Given the description of an element on the screen output the (x, y) to click on. 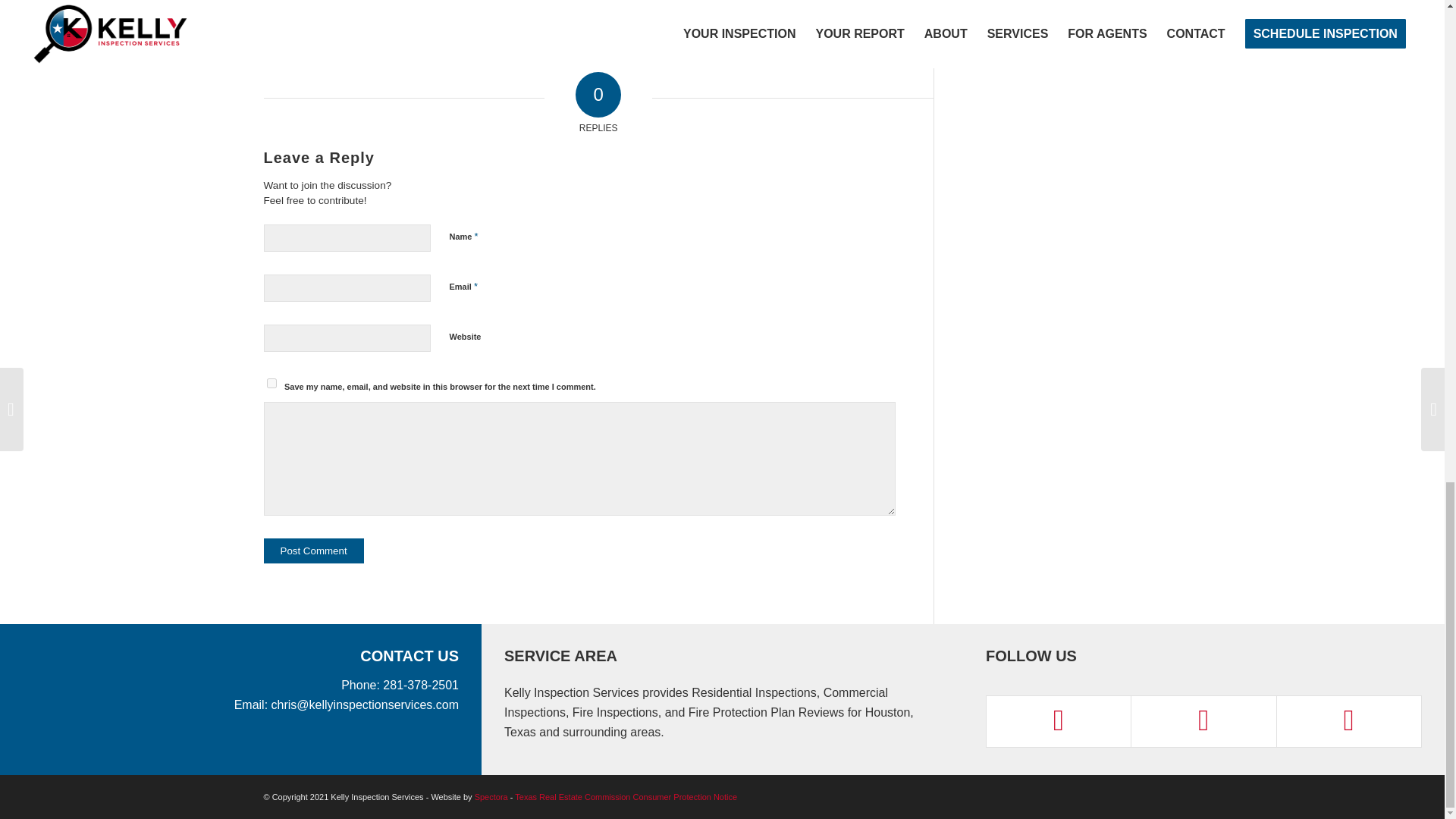
Post Comment (313, 550)
Post Comment (313, 550)
yes (271, 383)
